Given the description of an element on the screen output the (x, y) to click on. 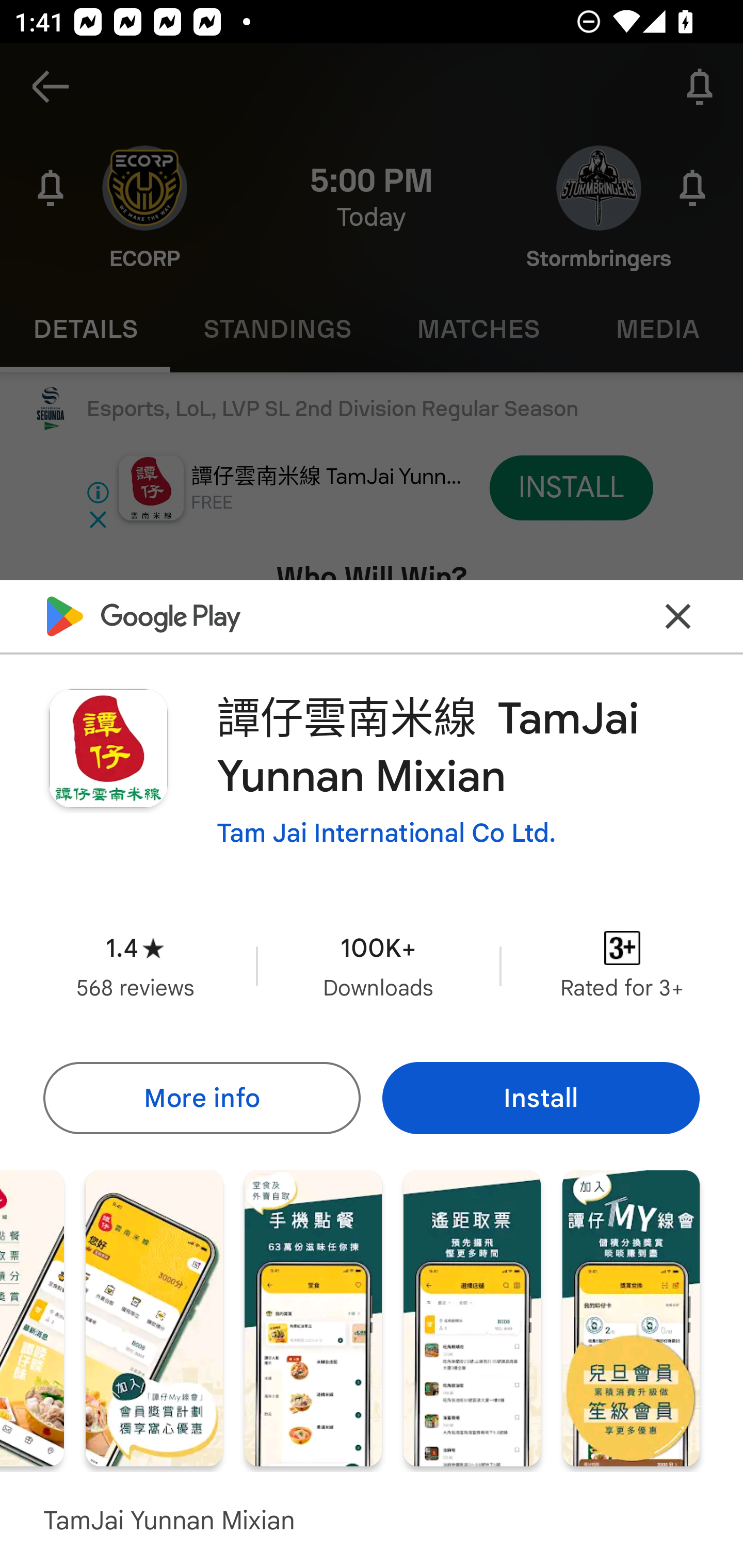
Close (677, 616)
Tam Jai International Co Ltd. (386, 832)
More info (201, 1097)
Install (540, 1097)
Screenshot "2" of "5" (153, 1317)
Screenshot "3" of "5" (312, 1317)
Screenshot "4" of "5" (471, 1317)
Screenshot "5" of "5" (630, 1317)
